Given the description of an element on the screen output the (x, y) to click on. 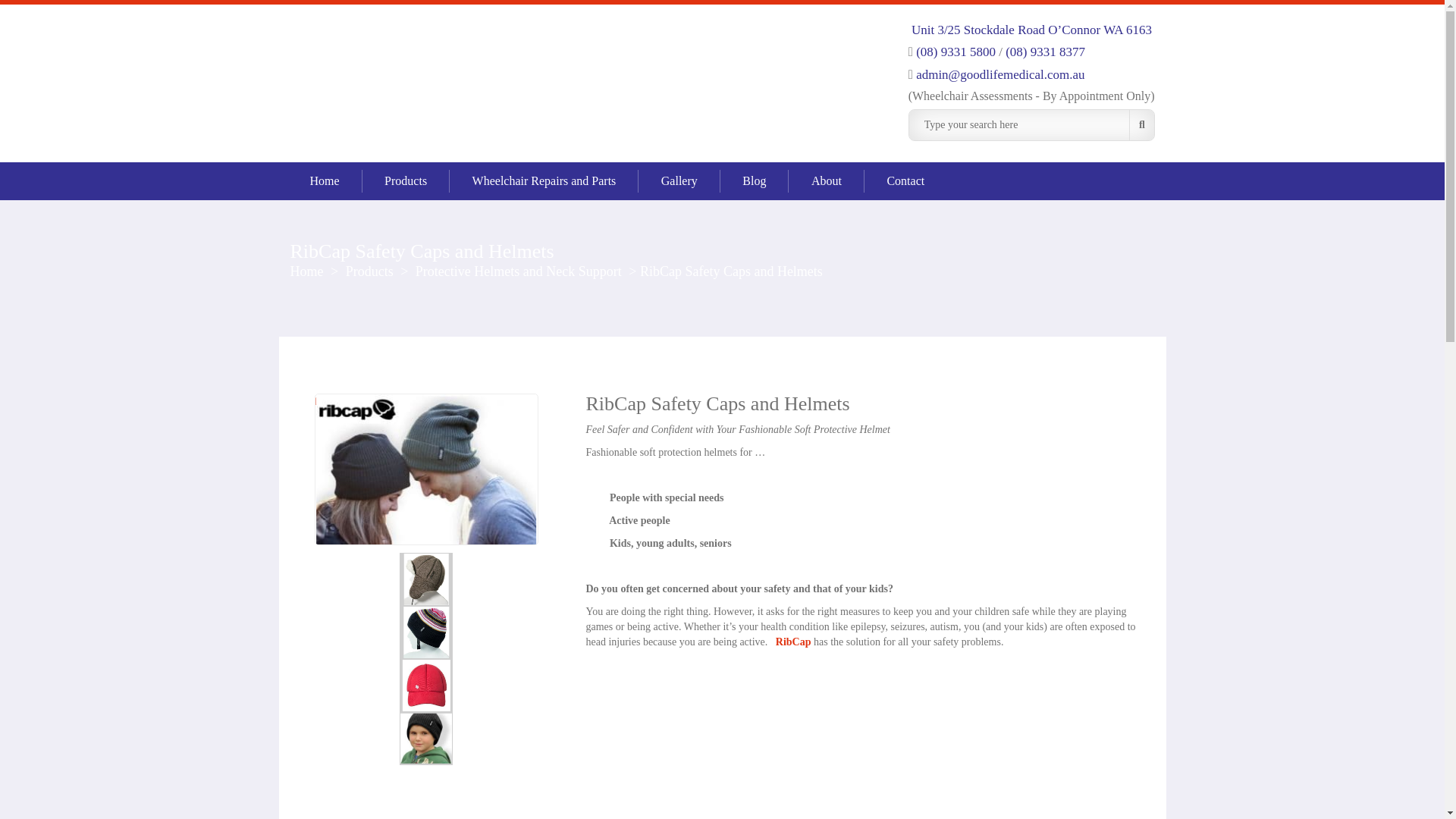
Protective Helmets and Neck Support (519, 271)
Good Life Medical (410, 72)
Gallery (679, 180)
Home (323, 180)
Blog (754, 180)
RibCap Safety Caps and Helmets (426, 685)
Home (307, 271)
About (826, 180)
RibCap (793, 641)
Ribcap Fashionable Soft Protective Helmet (425, 737)
